Given the description of an element on the screen output the (x, y) to click on. 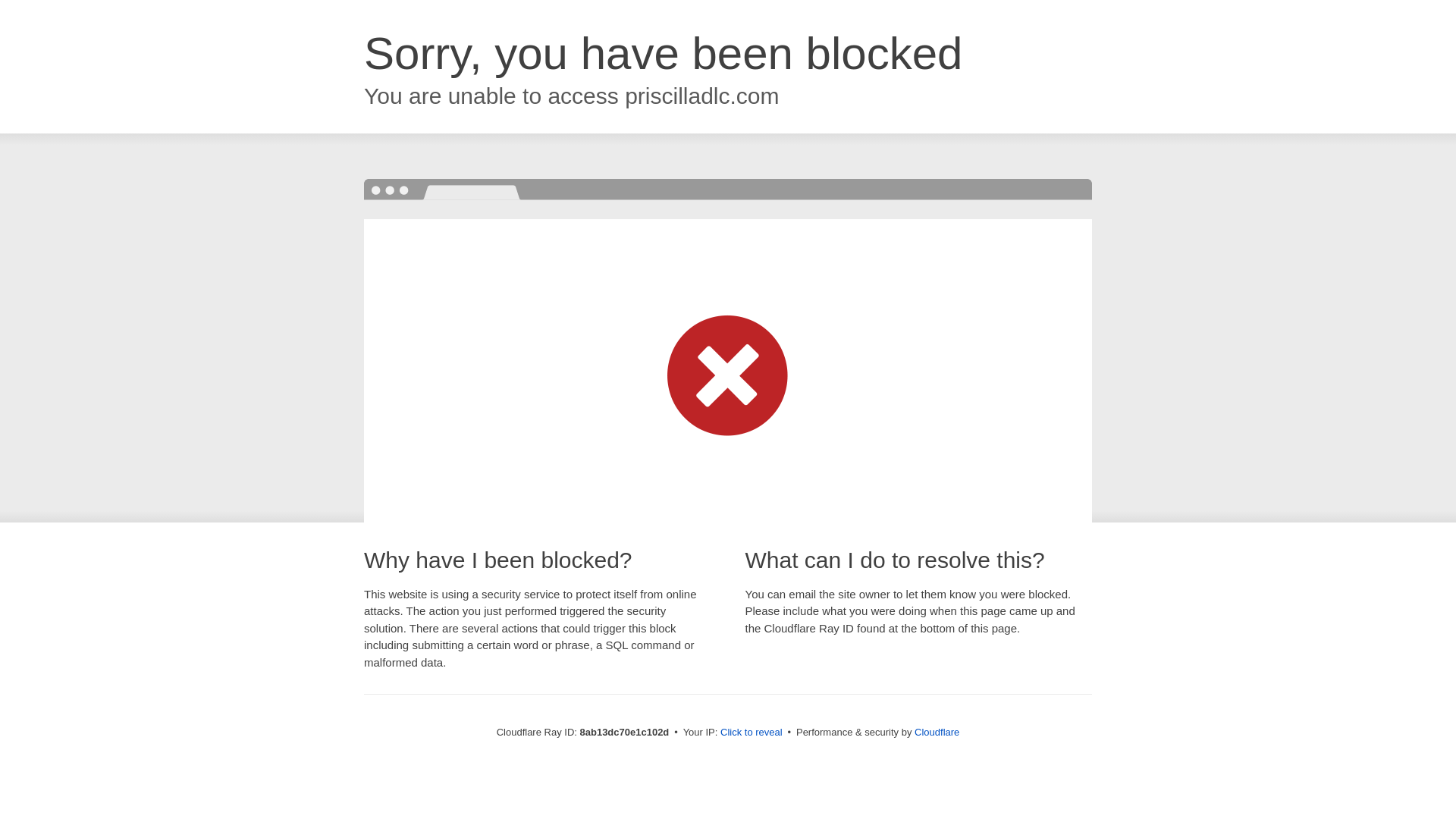
Click to reveal (751, 732)
Cloudflare (936, 731)
